Given the description of an element on the screen output the (x, y) to click on. 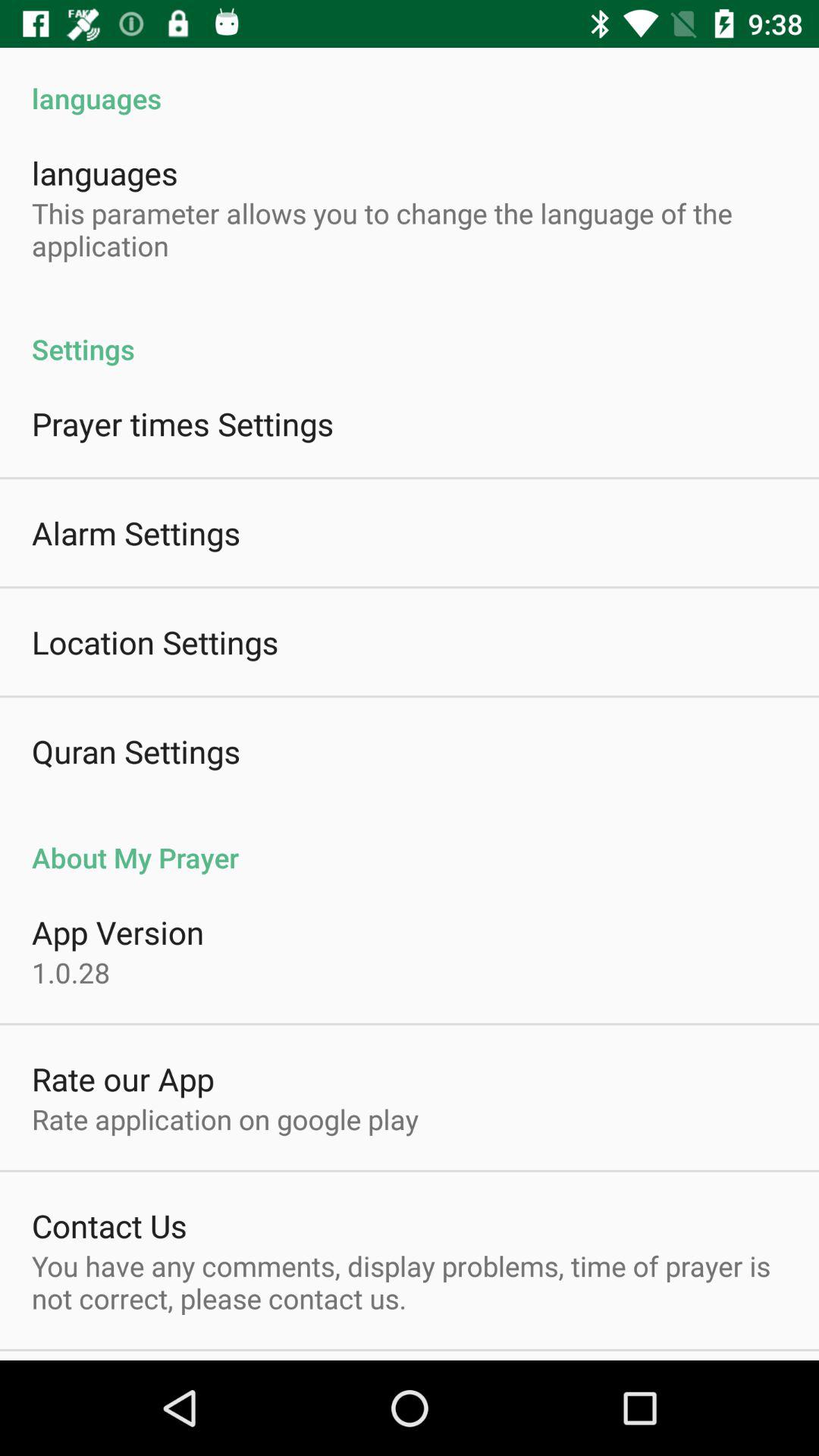
tap app below the app version item (70, 972)
